Given the description of an element on the screen output the (x, y) to click on. 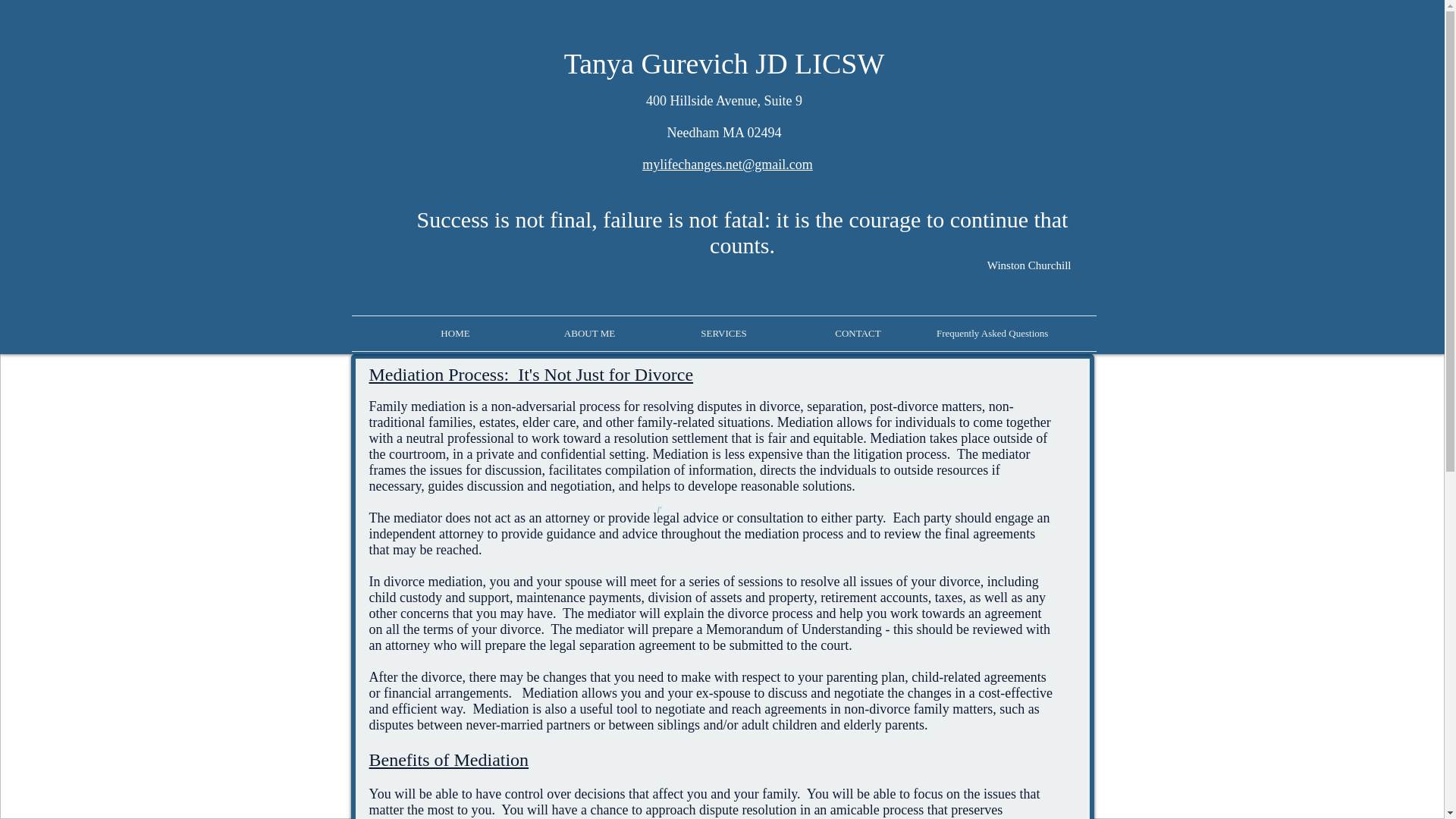
Benefits of Mediation (448, 759)
Mediation Process:  It's Not Just for Divorce (530, 376)
CONTACT (857, 333)
Frequently Asked Questions (991, 333)
SERVICES (723, 333)
ABOUT ME (589, 333)
HOME (455, 333)
